Given the description of an element on the screen output the (x, y) to click on. 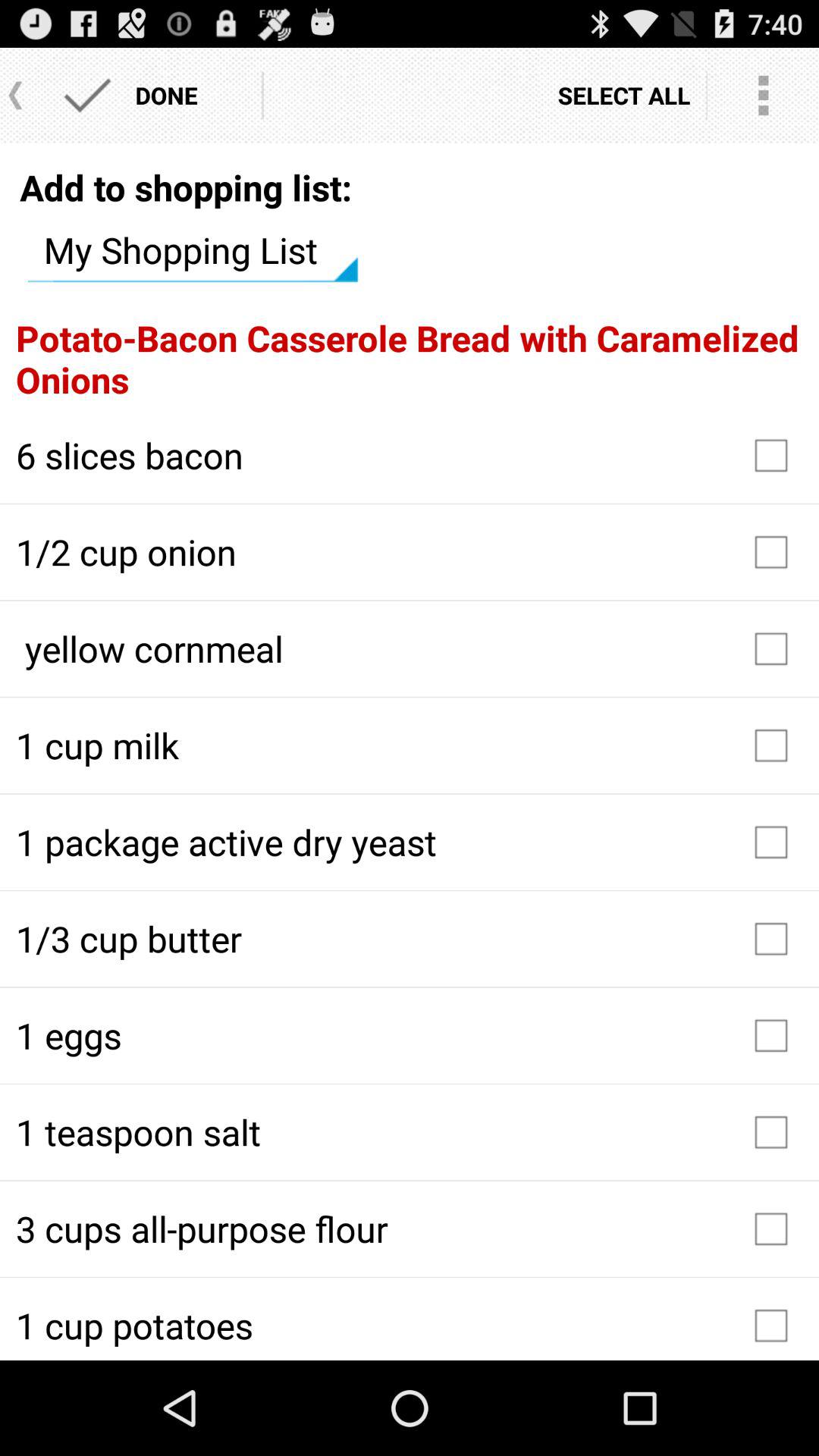
swipe to 1 teaspoon salt icon (409, 1132)
